Given the description of an element on the screen output the (x, y) to click on. 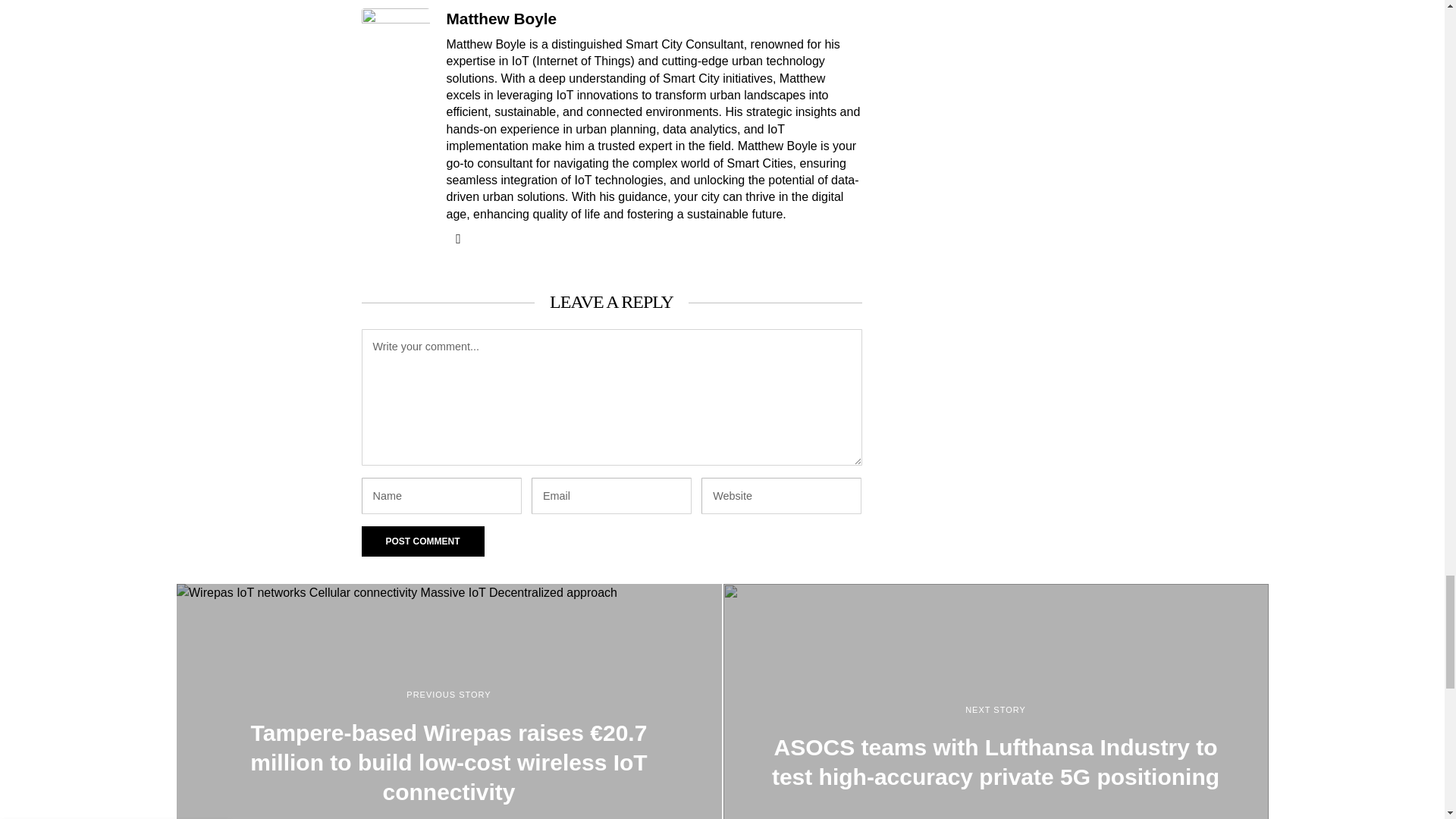
Matthew Boyle (500, 18)
Post Comment (422, 541)
Post Comment (422, 541)
